Given the description of an element on the screen output the (x, y) to click on. 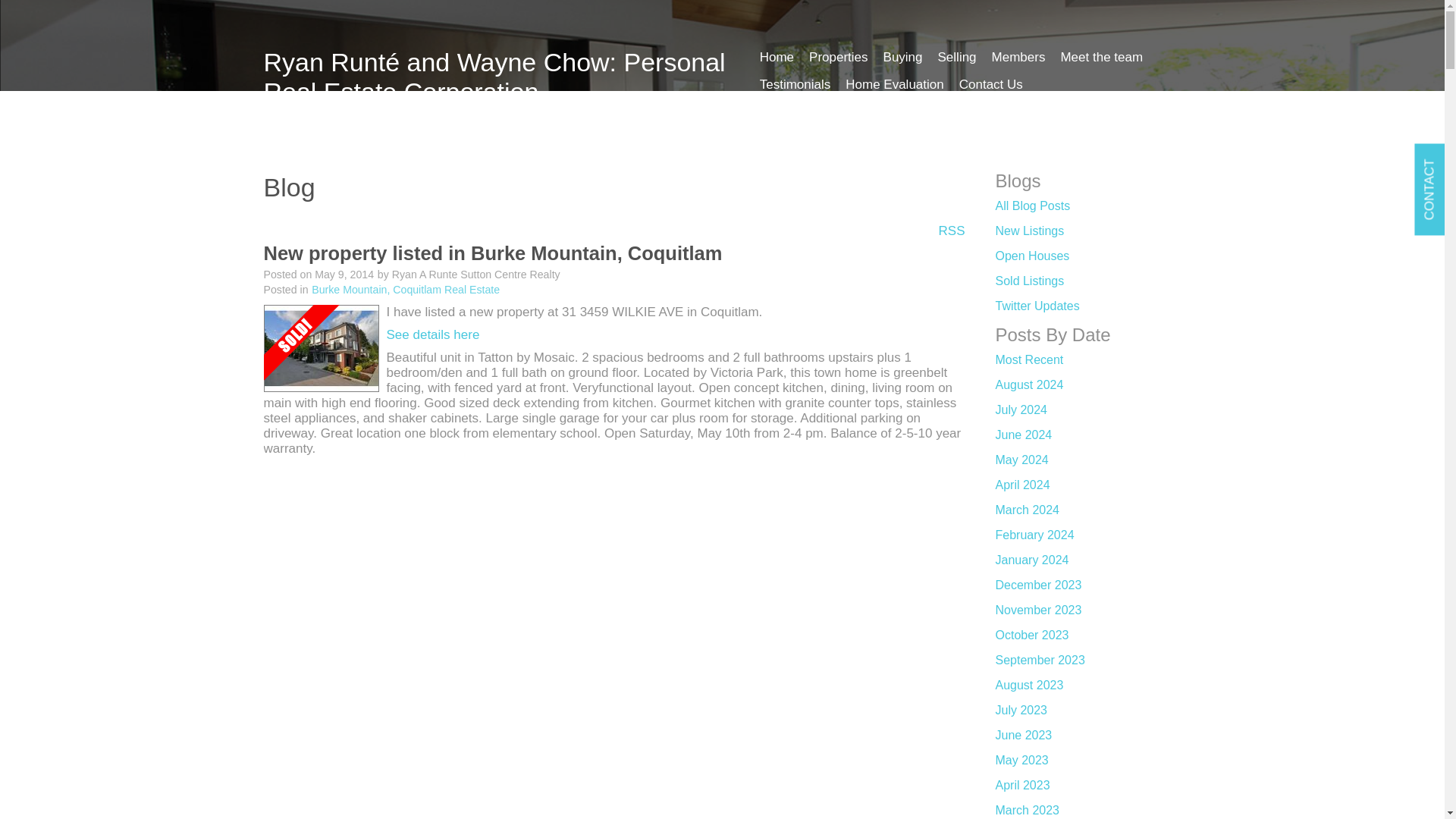
Members (1018, 62)
January 2024 (1031, 559)
Properties (838, 62)
See details here (433, 334)
Meet the team (1101, 62)
Testimonials (795, 90)
August 2024 (1028, 384)
All Blog Posts (1032, 205)
Burke Mountain, Coquitlam Real Estate (405, 289)
May 2024 (1021, 459)
